Given the description of an element on the screen output the (x, y) to click on. 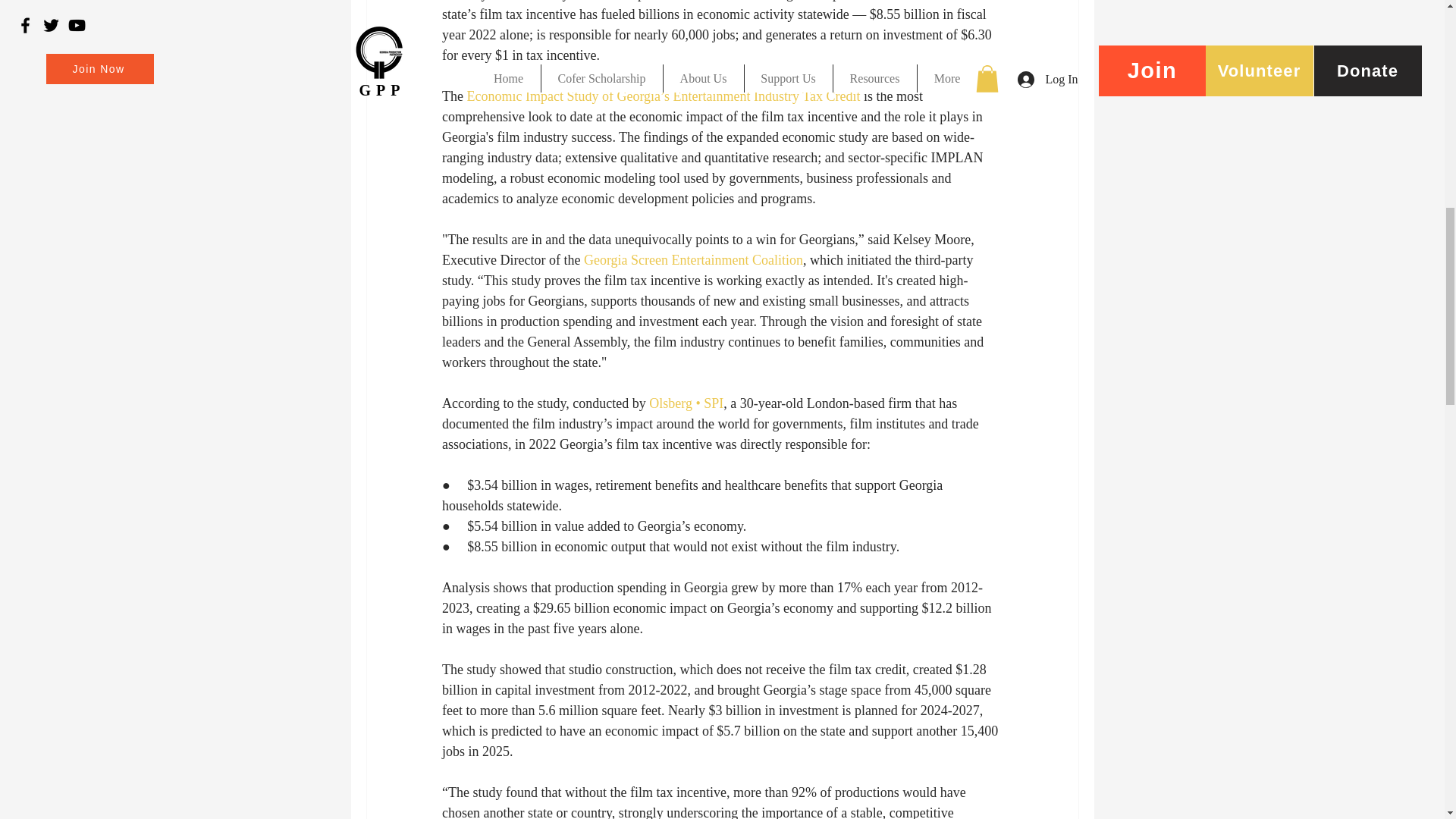
 Georgia Screen Entertainment Coalition (691, 259)
